Given the description of an element on the screen output the (x, y) to click on. 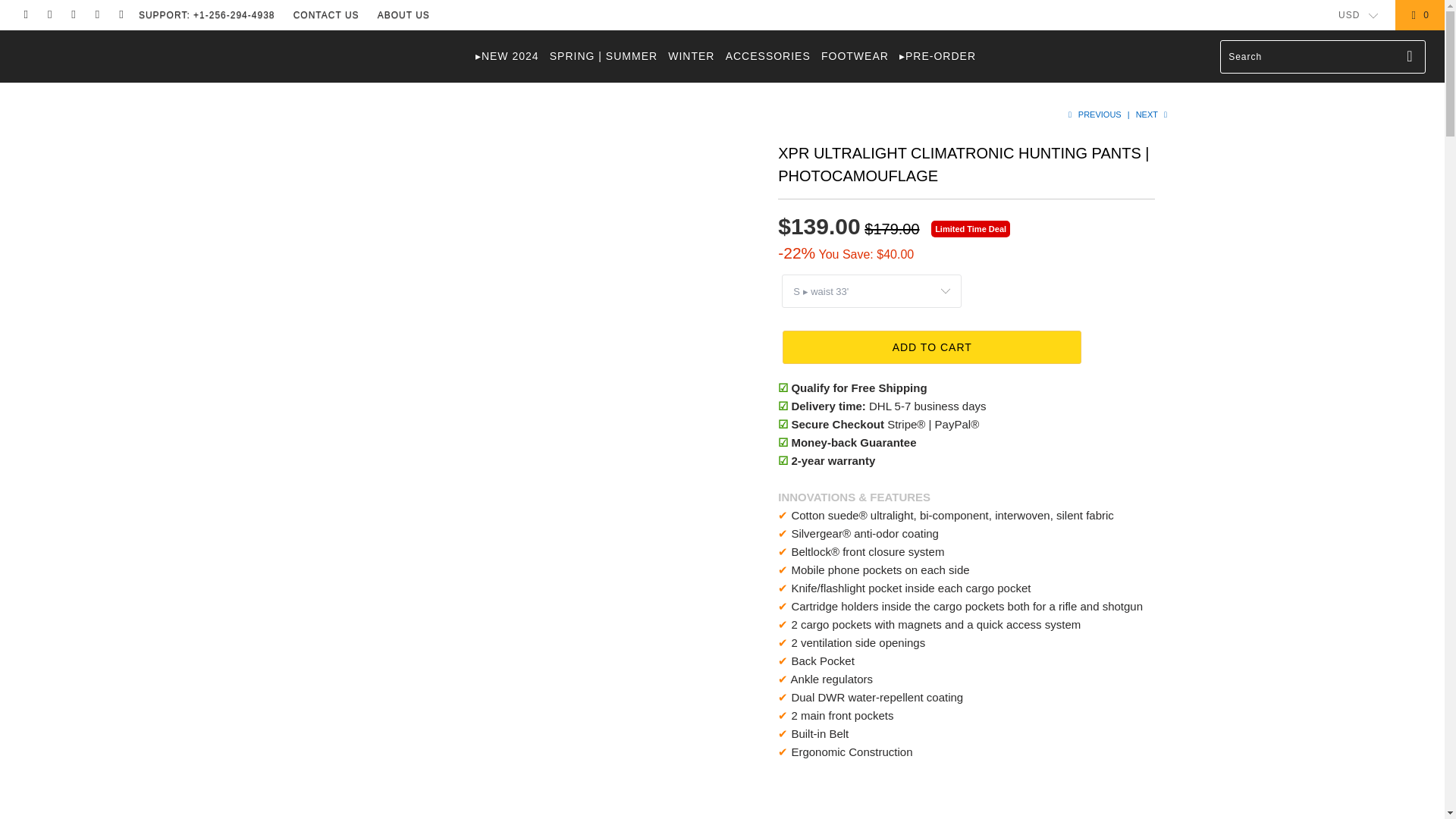
ACCESSORIES (767, 56)
FOOTWEAR (854, 56)
HILLMAN GEAR on Instagram (96, 14)
HILLMAN GEAR (122, 41)
HILLMAN GEAR on Twitter (25, 14)
Next (1152, 113)
CONTACT US (326, 15)
HILLMAN GEAR on YouTube (73, 14)
ABOUT US (403, 15)
WINTER (691, 56)
